Given the description of an element on the screen output the (x, y) to click on. 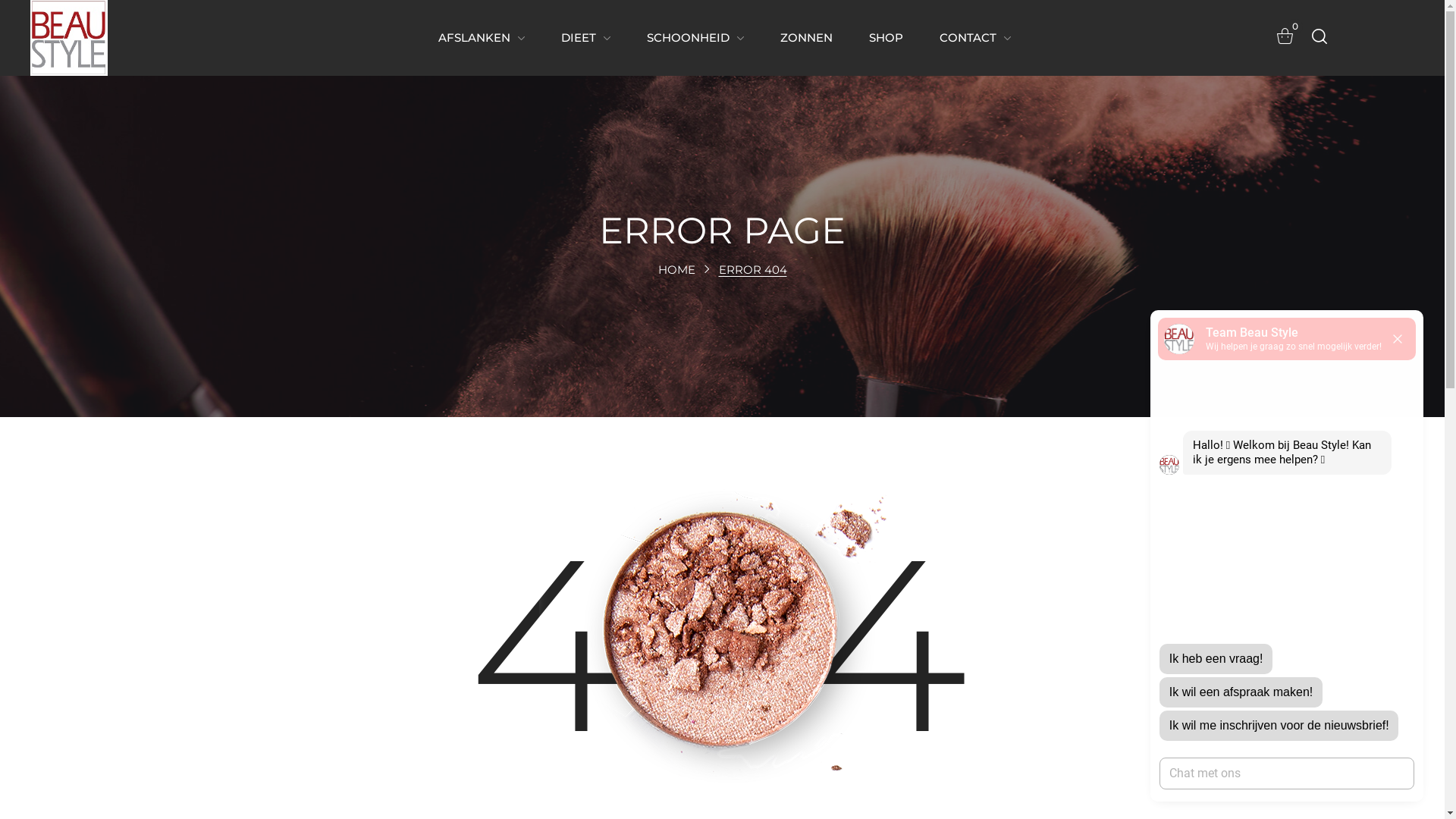
HOME Element type: text (676, 269)
CONTACT Element type: text (975, 37)
DIEET Element type: text (585, 37)
ZONNEN Element type: text (806, 37)
AFSLANKEN Element type: text (481, 37)
0 Element type: text (1280, 35)
Search Element type: text (1304, 34)
Search Element type: text (1304, 110)
SHOP Element type: text (885, 37)
SCHOONHEID Element type: text (695, 37)
